Given the description of an element on the screen output the (x, y) to click on. 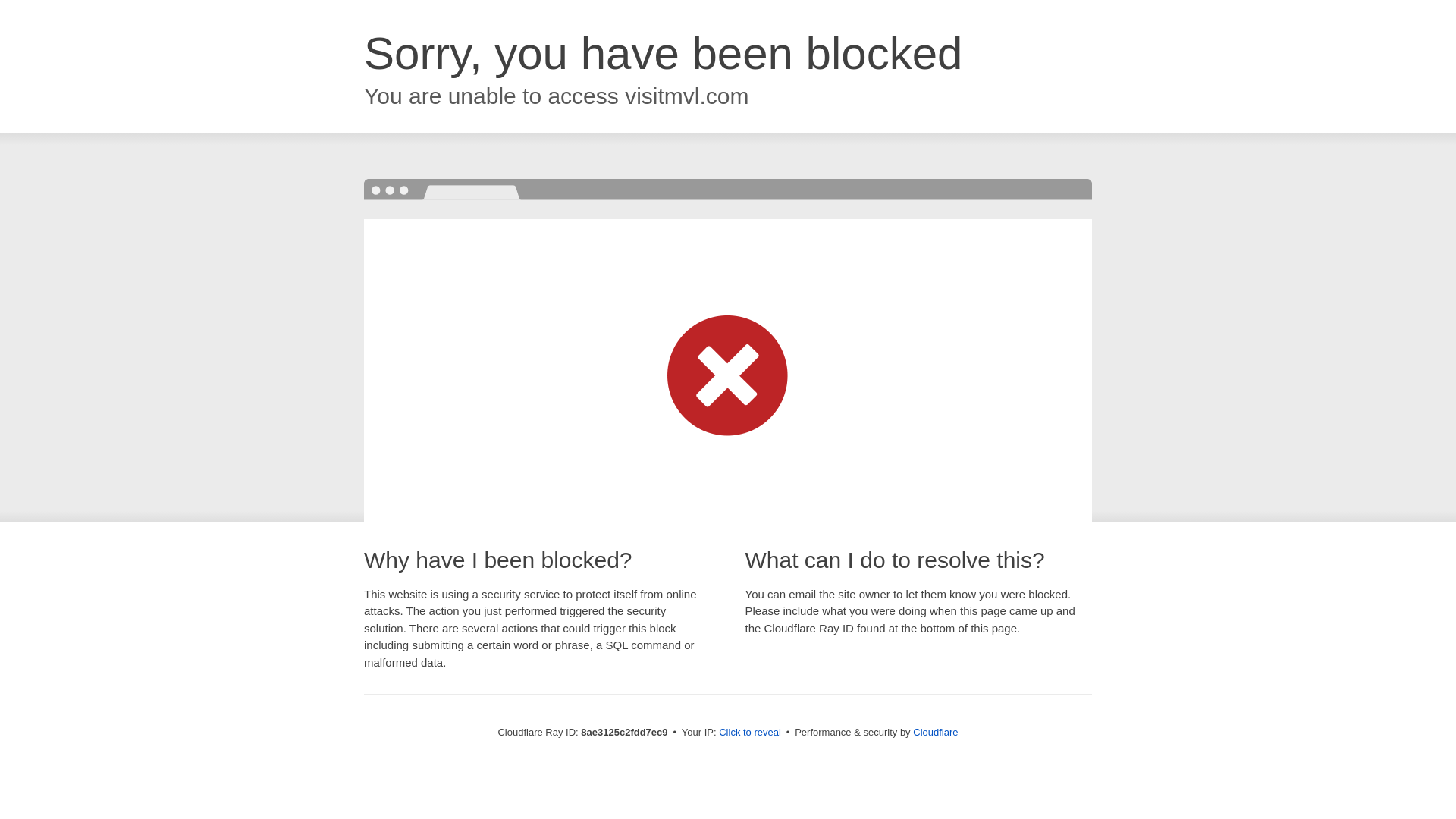
Click to reveal (749, 732)
Cloudflare (935, 731)
